Given the description of an element on the screen output the (x, y) to click on. 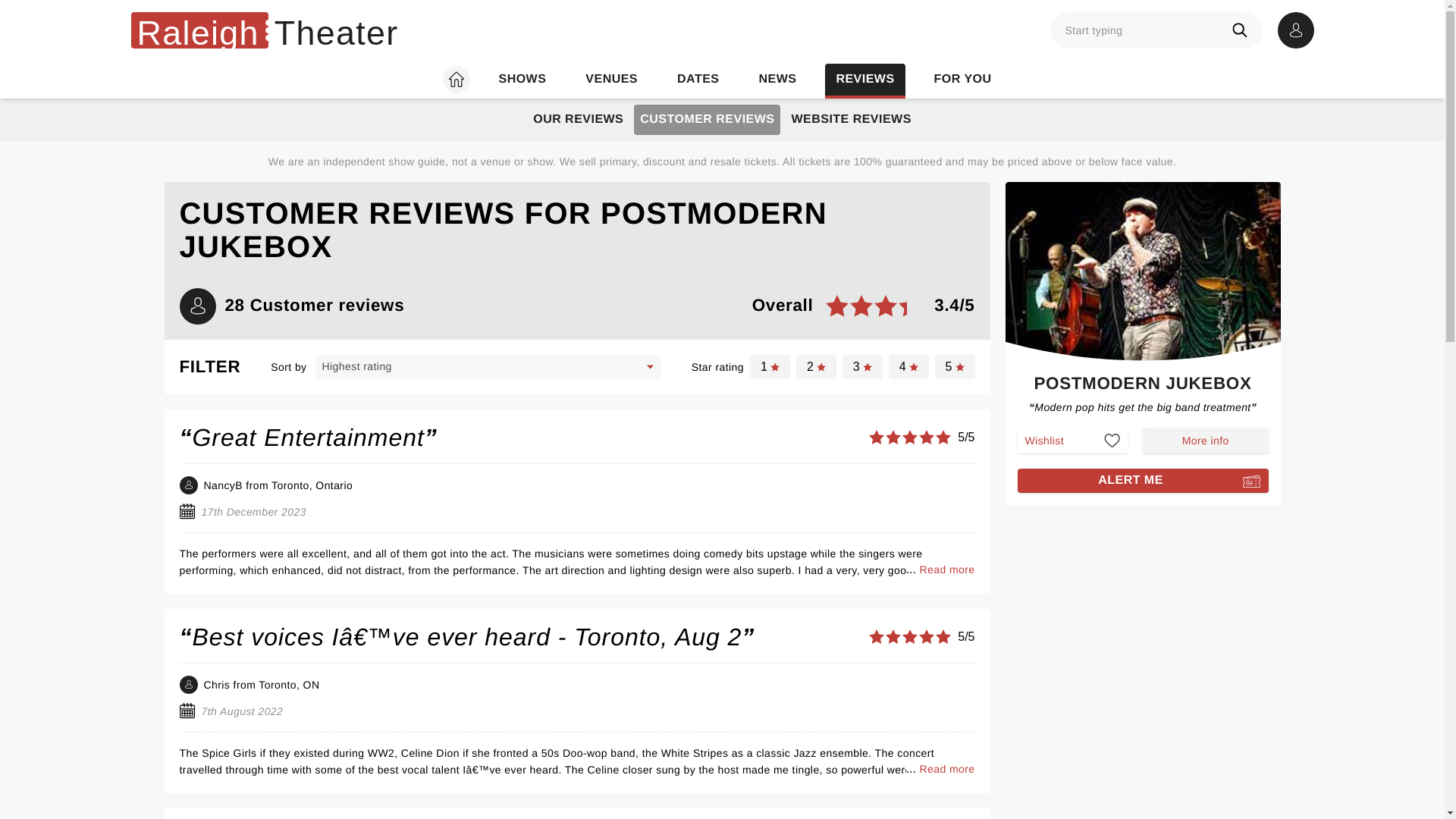
3 (862, 366)
1 (769, 366)
POSTMODERN JUKEBOX (1141, 386)
NEWS (777, 80)
Wishlist (1072, 440)
More info (1205, 440)
2 (815, 366)
Read more (946, 569)
DATES (697, 80)
CUSTOMER REVIEWS (264, 30)
5 (706, 119)
SHOWS (954, 366)
ALERT ME (521, 80)
Read more (1142, 480)
